Given the description of an element on the screen output the (x, y) to click on. 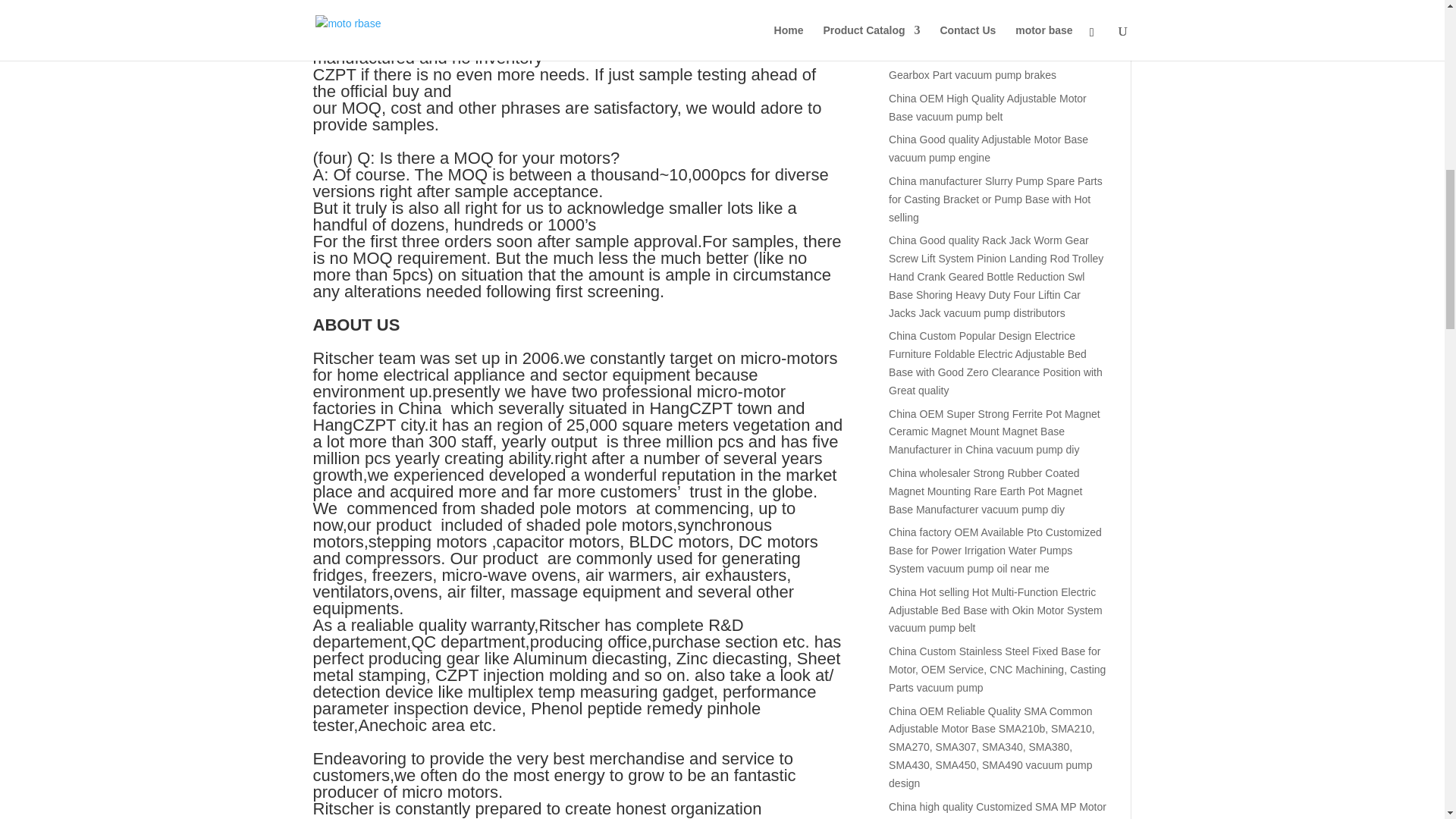
China Good quality Adjustable Motor Base vacuum pump engine (987, 148)
